Given the description of an element on the screen output the (x, y) to click on. 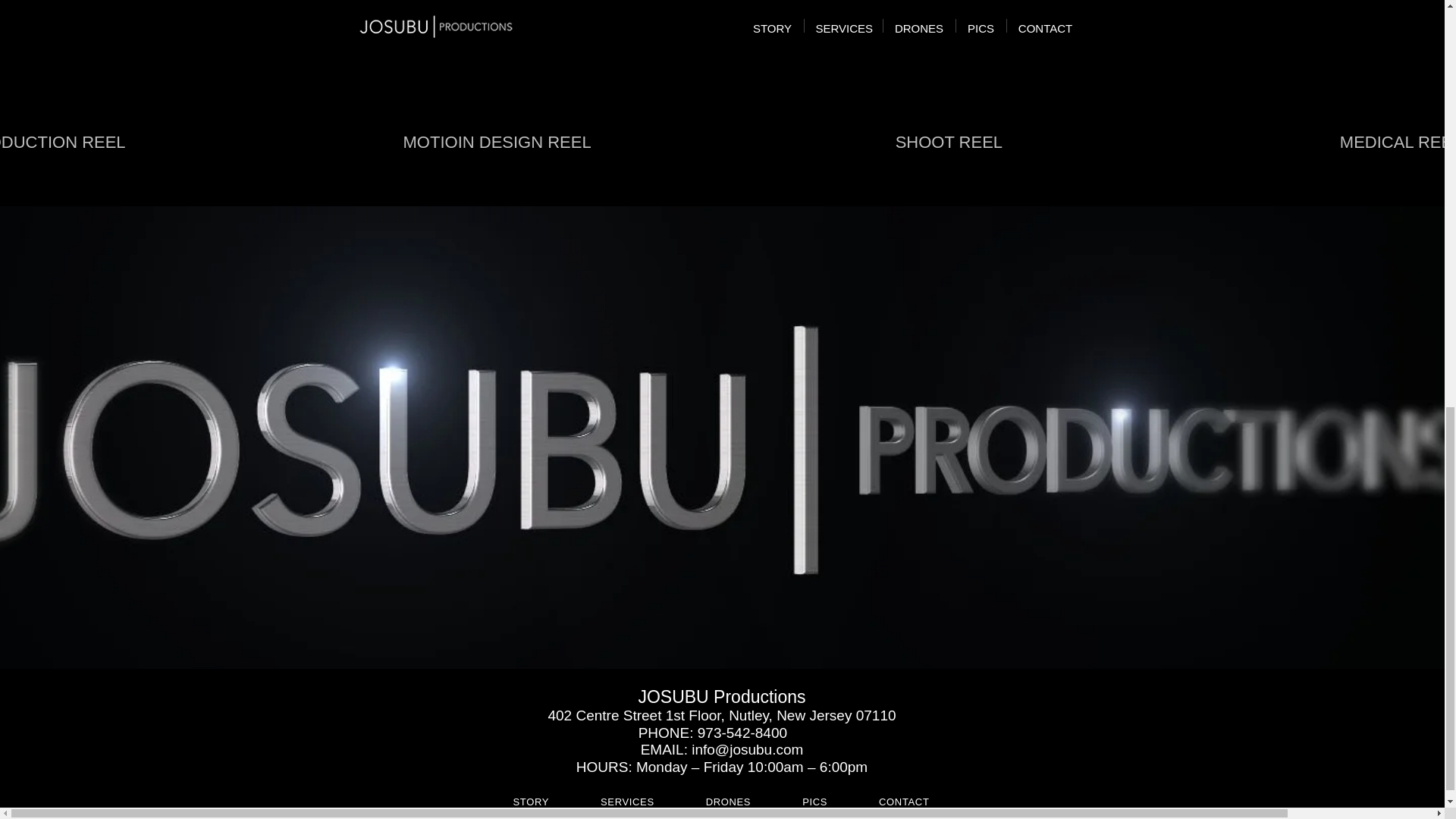
CONTACT (904, 801)
MOTIOIN DESIGN REEL (496, 93)
STORY (530, 801)
DRONES (727, 801)
SHOOT REEL (949, 93)
PRODUCTION REEL (133, 93)
PICS (814, 801)
SERVICES (627, 801)
